Given the description of an element on the screen output the (x, y) to click on. 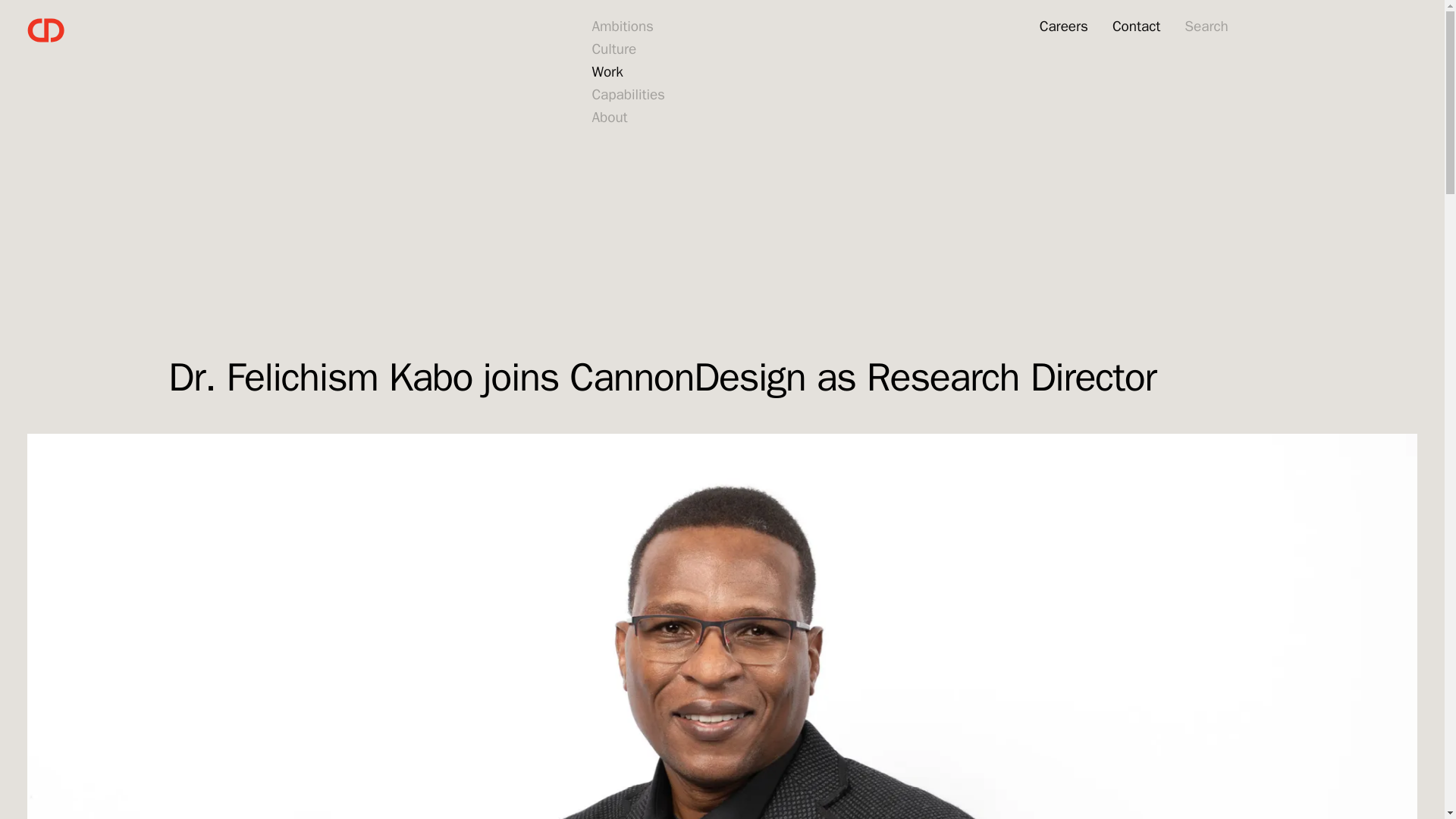
Culture (613, 49)
Search (1206, 26)
About (609, 117)
Ambitions (622, 26)
Contact (1136, 26)
Capabilities (628, 94)
Careers (1063, 26)
Work (607, 72)
